Given the description of an element on the screen output the (x, y) to click on. 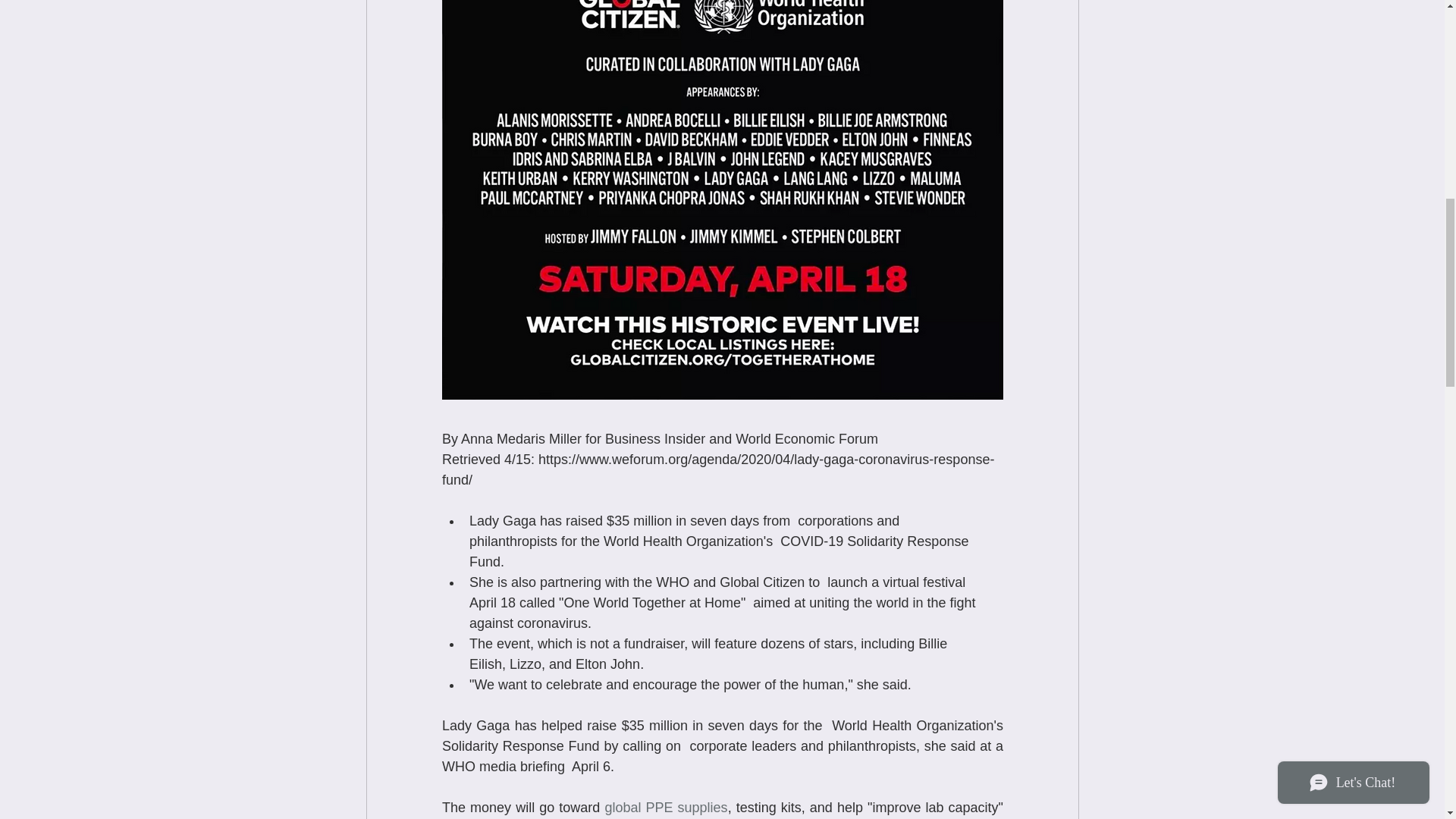
global PPE supplies (665, 807)
